Given the description of an element on the screen output the (x, y) to click on. 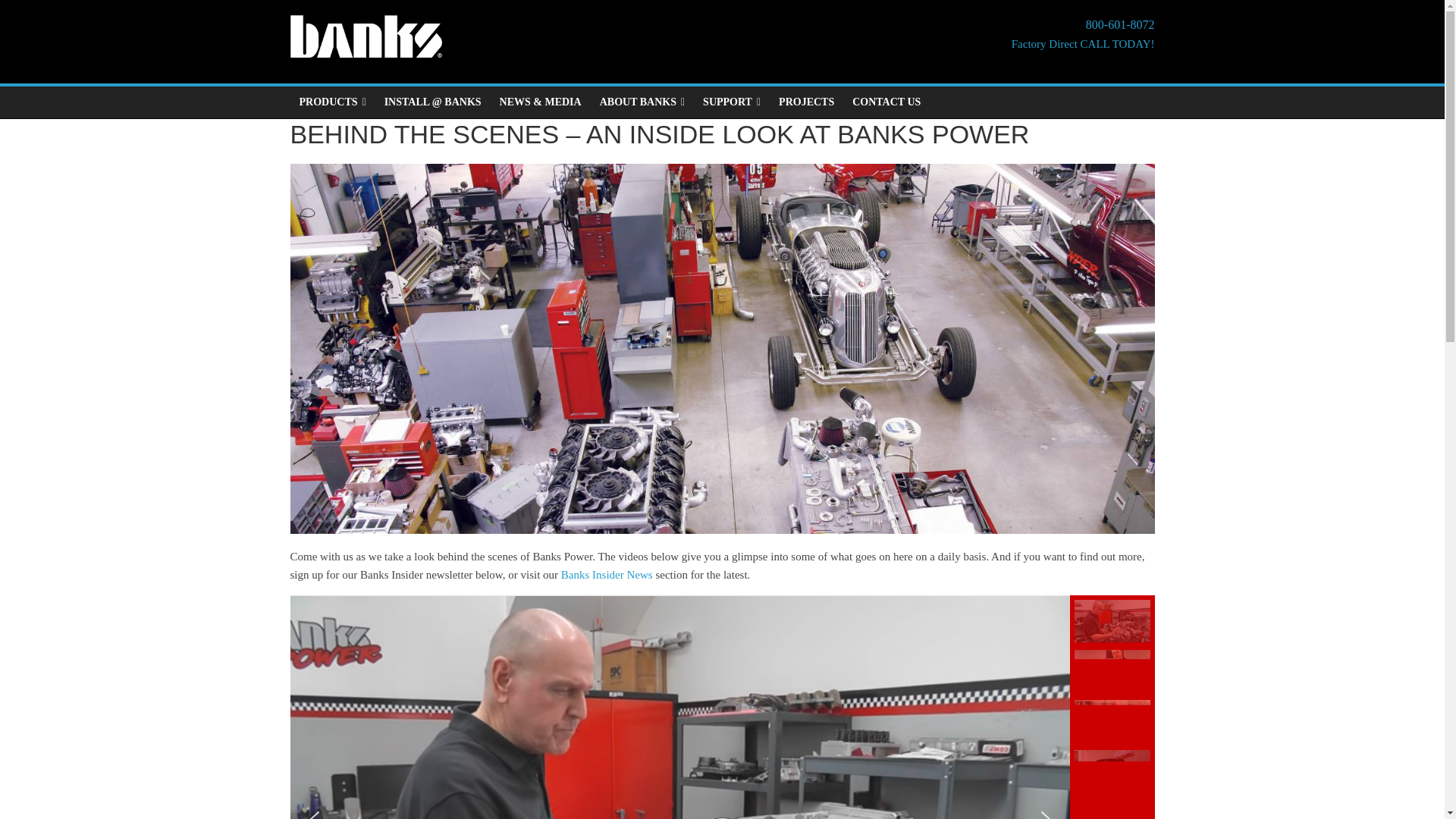
CONTACT US (886, 101)
PROJECTS (1082, 35)
ABOUT BANKS (806, 101)
SUPPORT (642, 101)
PRODUCTS (732, 101)
call us (331, 101)
